Given the description of an element on the screen output the (x, y) to click on. 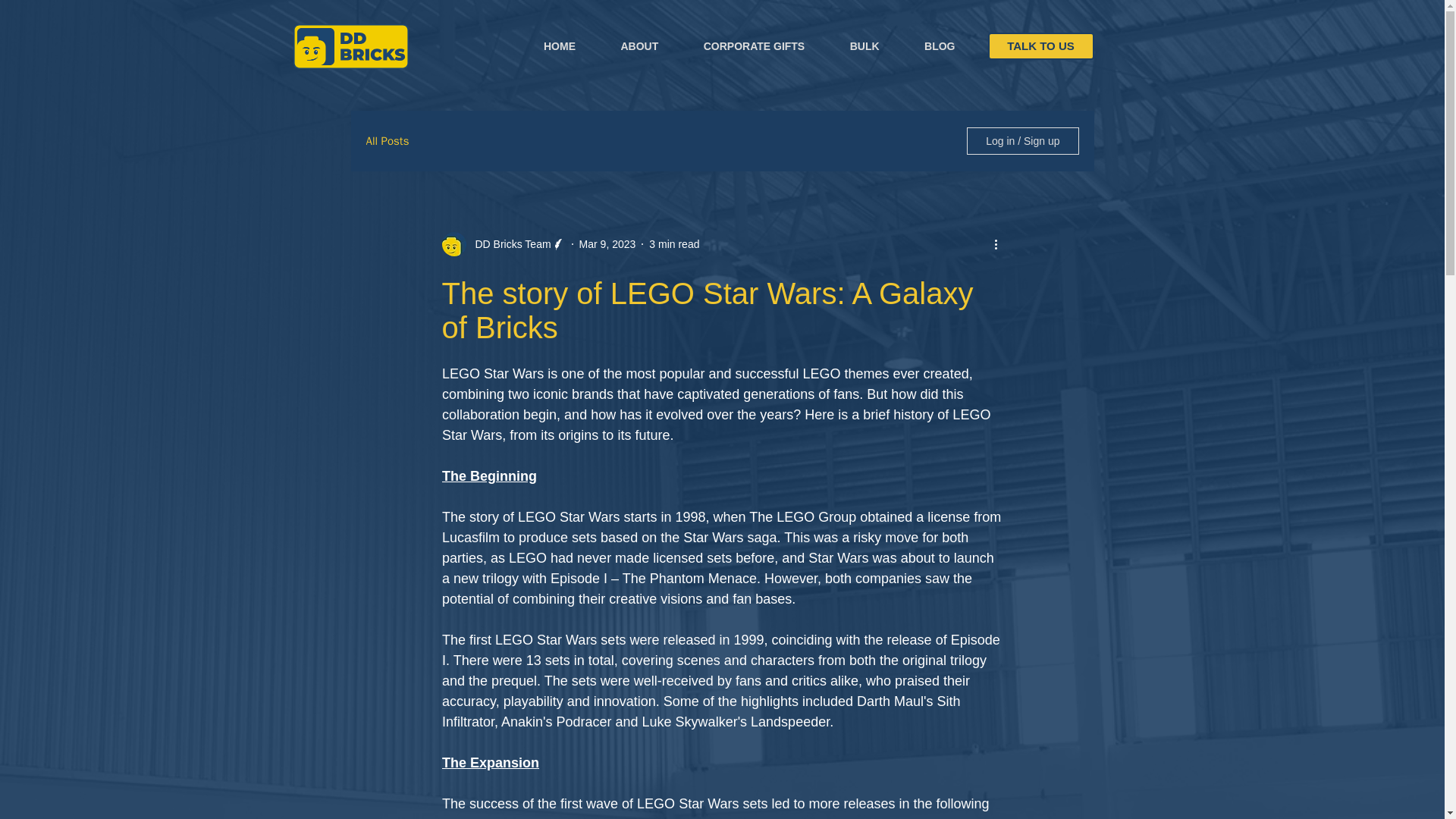
All Posts (387, 140)
CORPORATE GIFTS (731, 46)
DD Bricks Team (507, 244)
Mar 9, 2023 (607, 244)
3 min read (673, 244)
ABOUT (616, 46)
HOME (537, 46)
TALK TO US (1040, 45)
BLOG (917, 46)
BULK (842, 46)
